Given the description of an element on the screen output the (x, y) to click on. 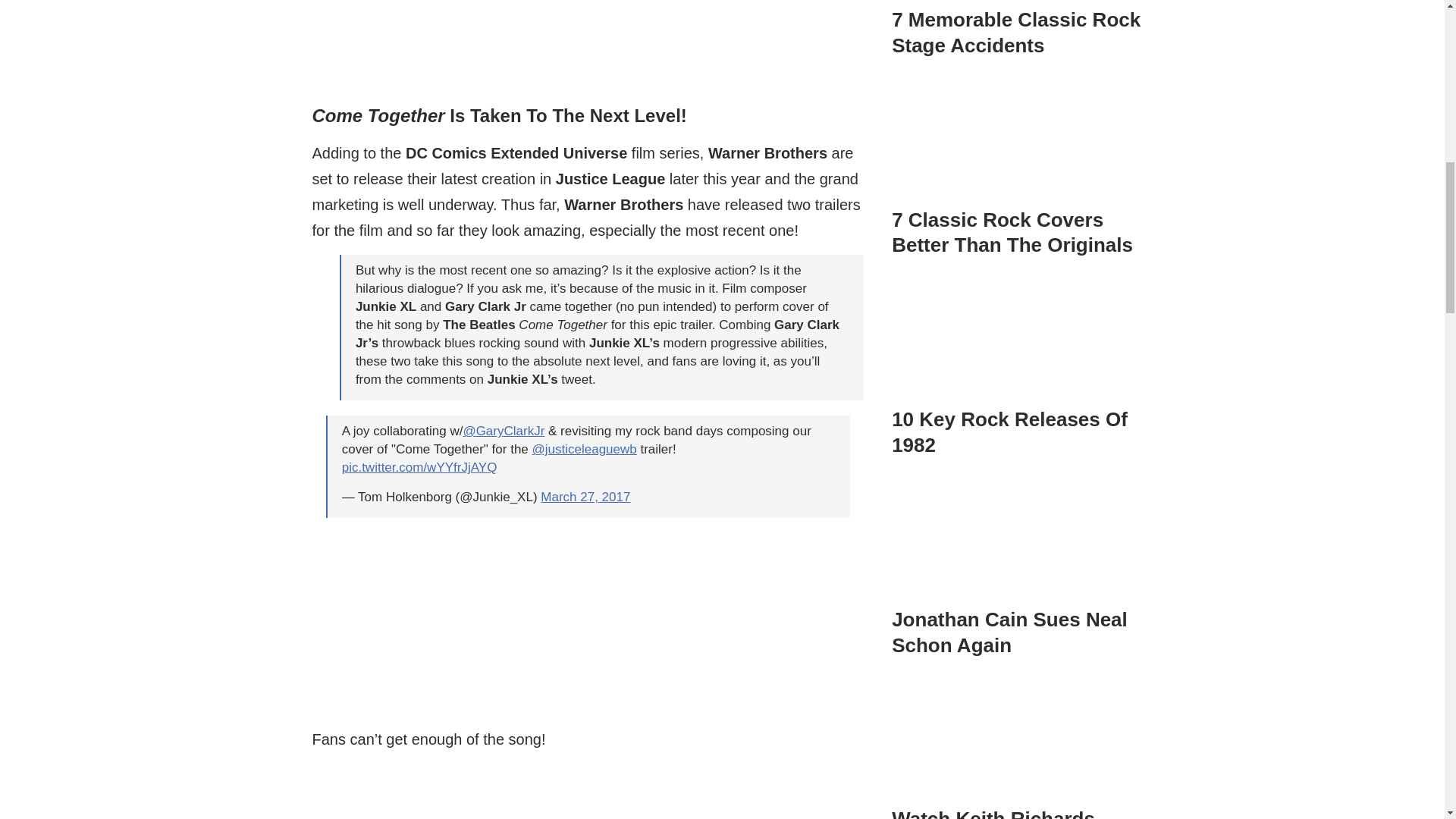
7 Classic Rock Covers Better Than the Originals (1019, 140)
7 Classic Rock Covers Better Than the Originals (1019, 163)
7 Memorable Classic Rock Stage Accidents (1015, 32)
7 Memorable Classic Rock Stage Accidents (1019, 15)
